Given the description of an element on the screen output the (x, y) to click on. 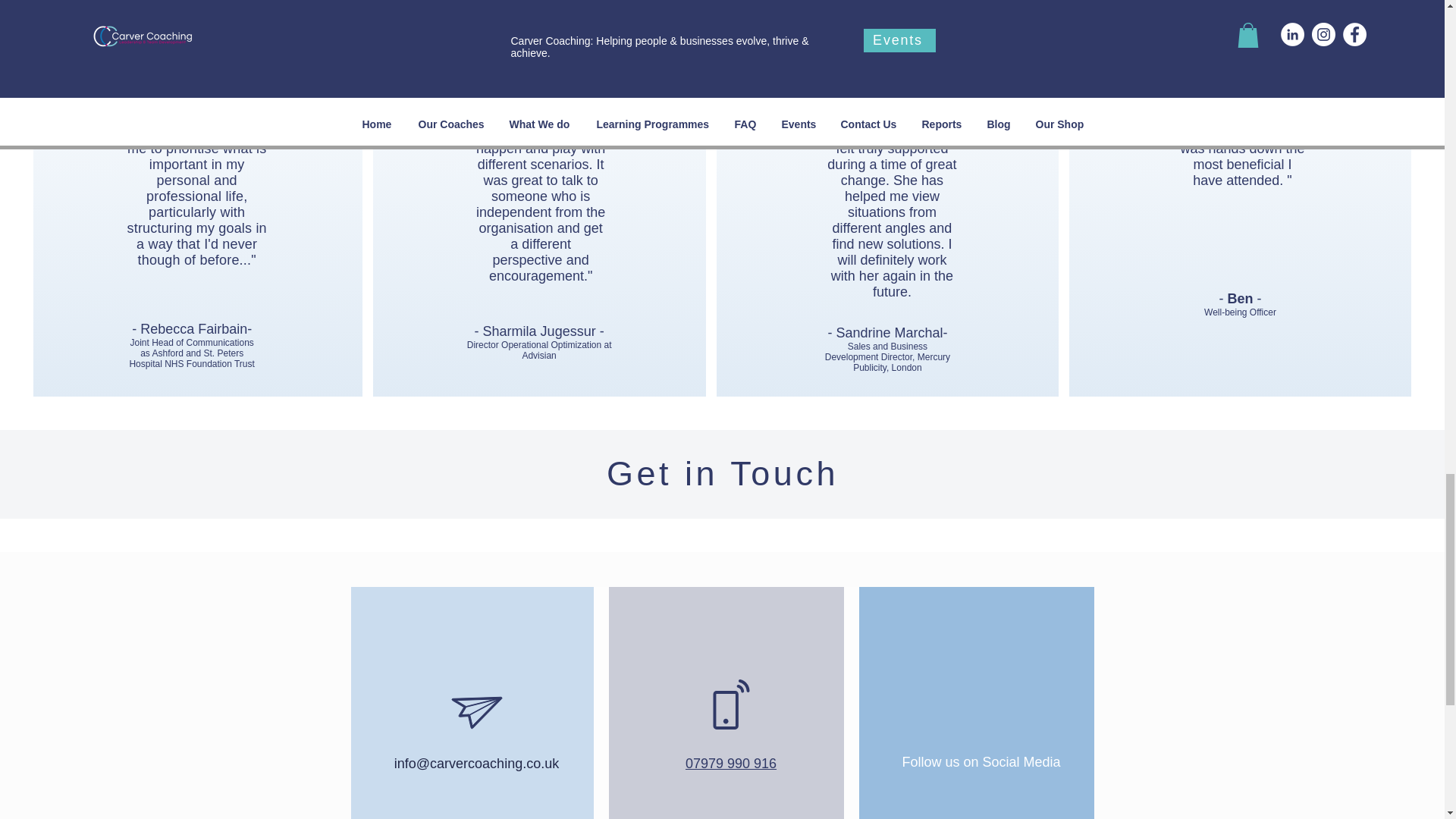
07979 990 916 (730, 762)
